Given the description of an element on the screen output the (x, y) to click on. 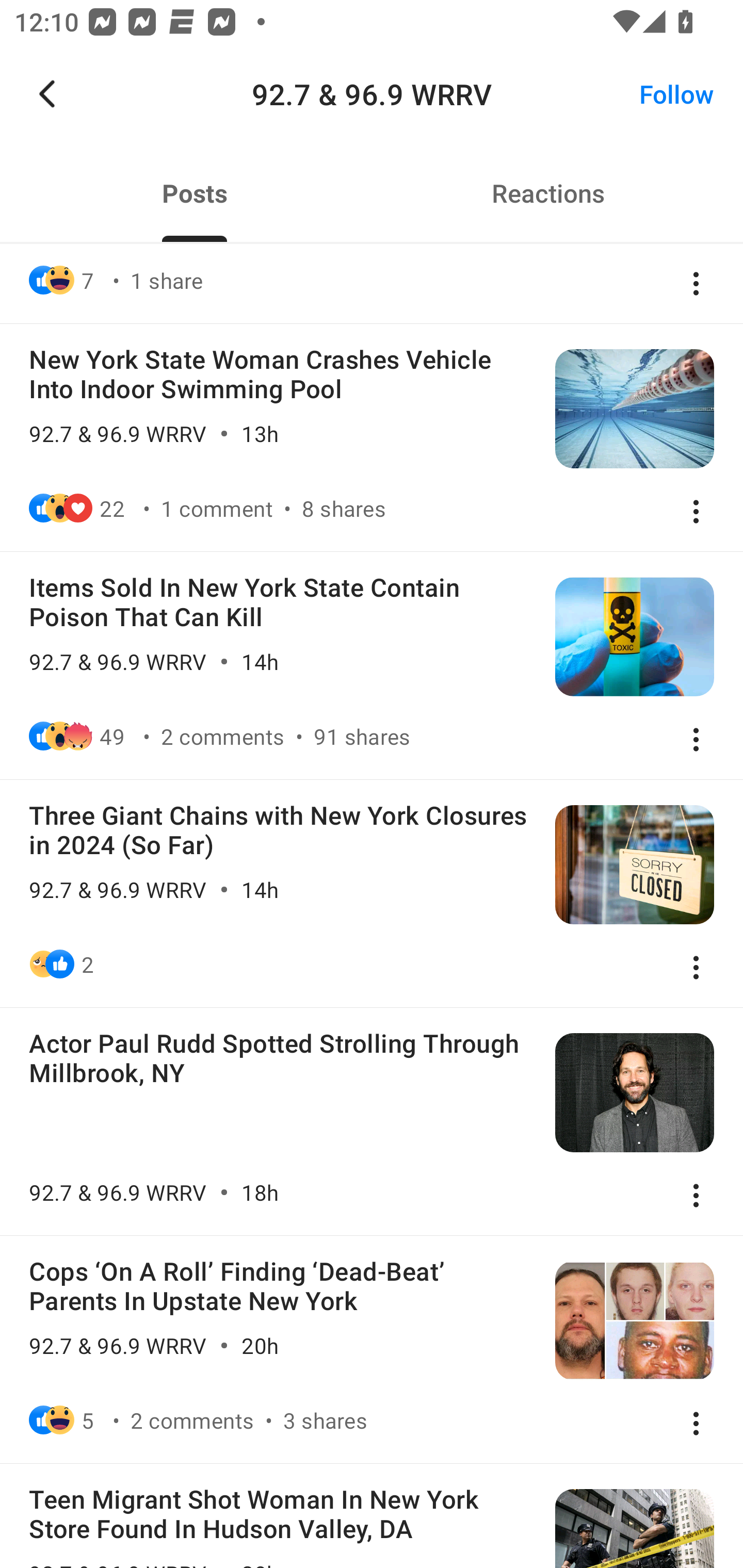
Follow (676, 93)
Reactions (548, 192)
